Given the description of an element on the screen output the (x, y) to click on. 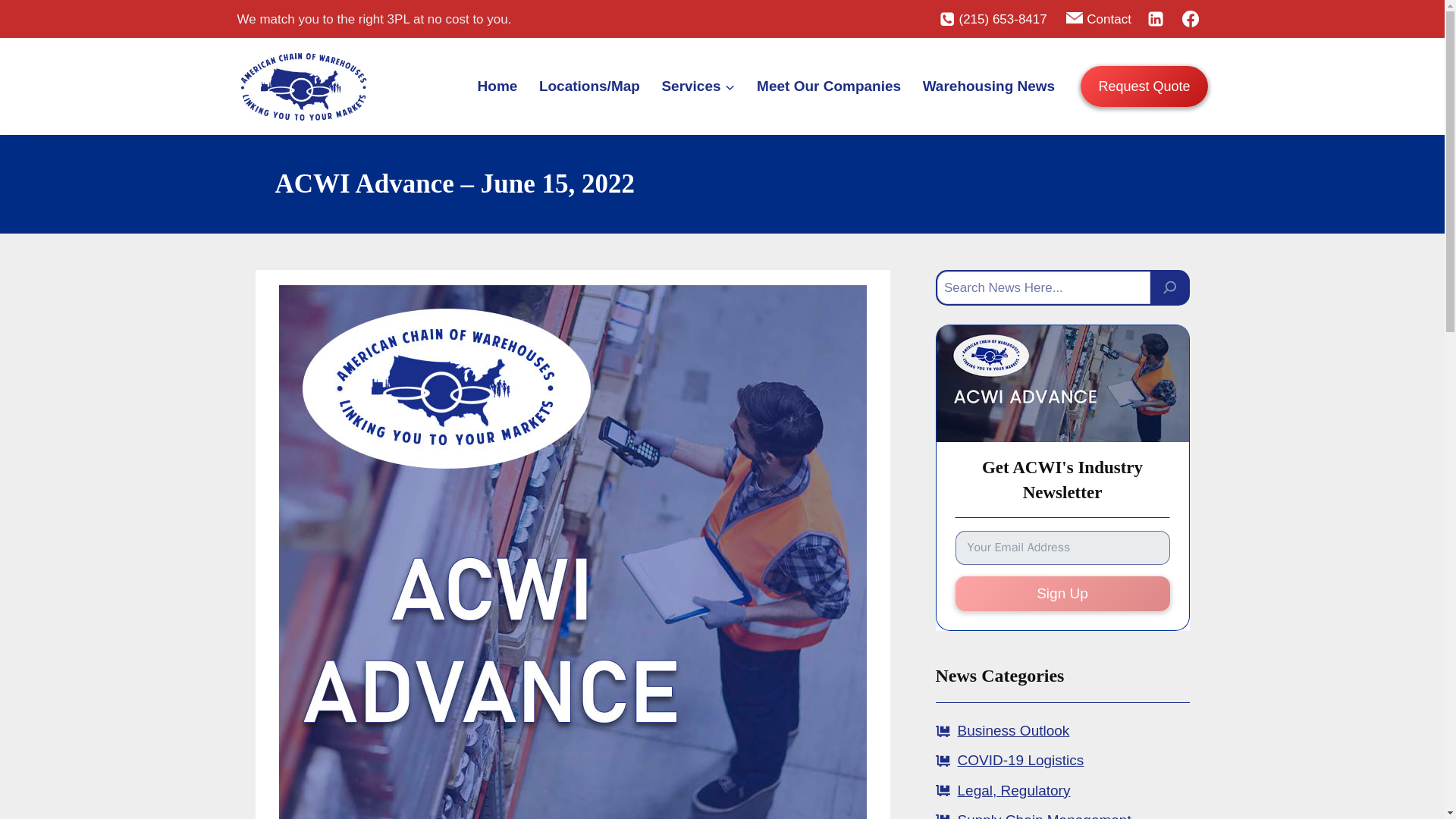
Services (697, 85)
Contact (1098, 19)
Request Quote (1143, 86)
Sign Up (1062, 593)
Business Outlook (1012, 730)
COVID-19 Logistics (1019, 760)
Warehousing News (988, 85)
Legal, Regulatory (1013, 790)
Home (496, 85)
Meet Our Companies (828, 85)
Supply Chain Management (1043, 815)
